Given the description of an element on the screen output the (x, y) to click on. 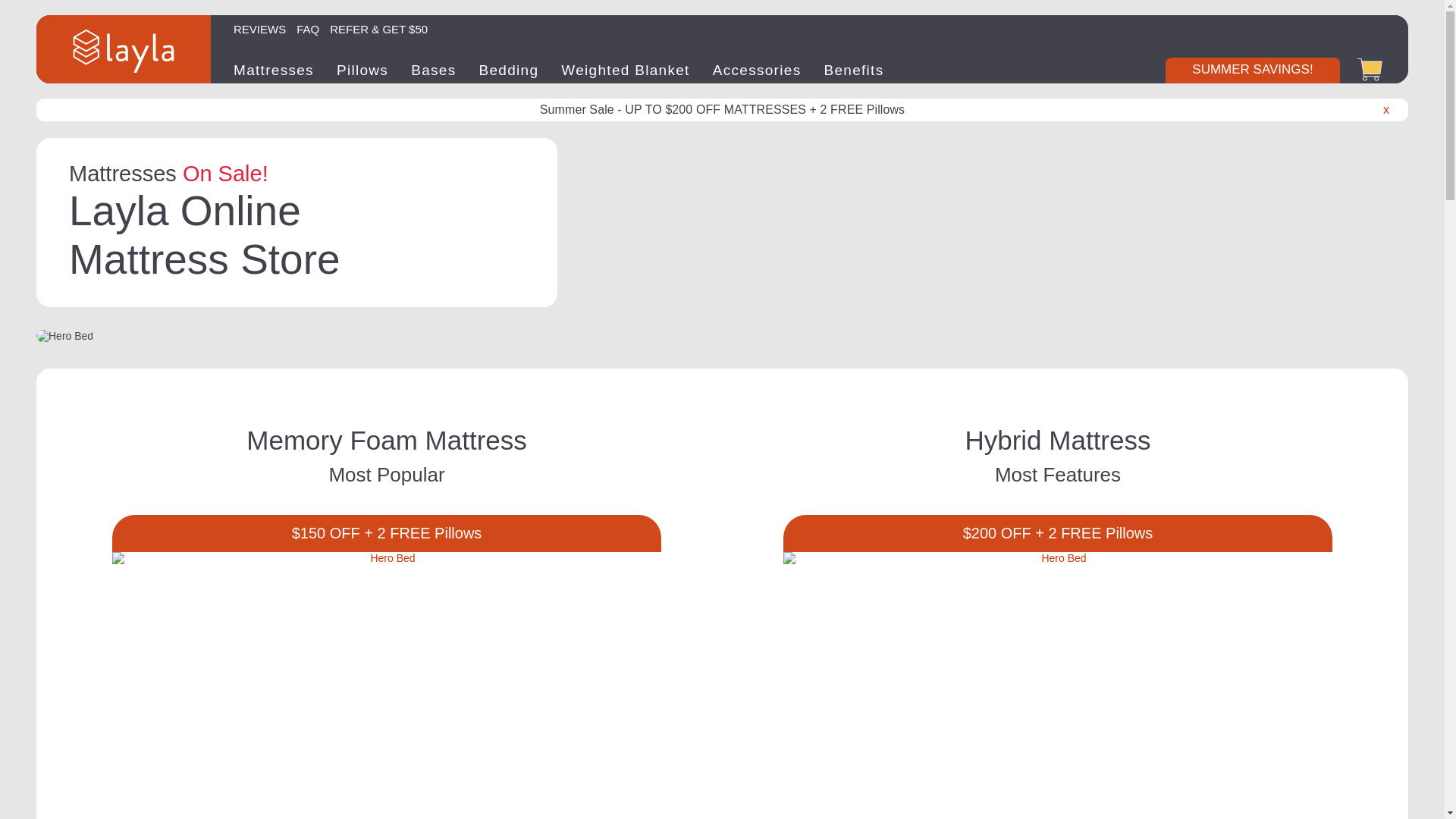
Accessories (757, 70)
Weighted Blanket (624, 70)
REVIEWS (258, 27)
FAQ (307, 27)
Benefits (853, 70)
Bases (432, 70)
Mattresses (273, 70)
Bedding (508, 70)
Pillows (362, 70)
